Given the description of an element on the screen output the (x, y) to click on. 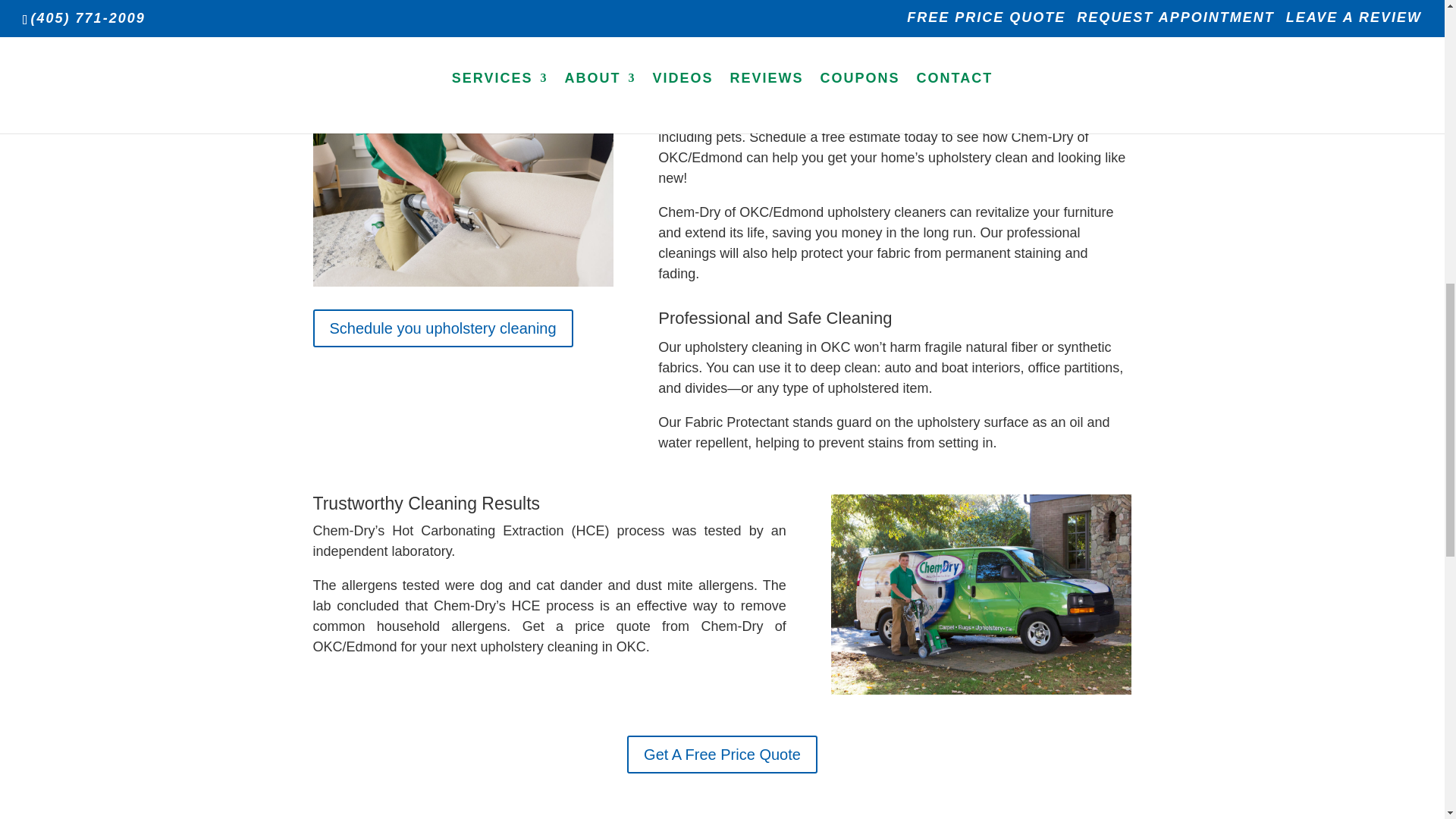
Get A Free Price Quote (721, 754)
chemdry carpet cleaners (981, 594)
Schedule you upholstery cleaning (442, 328)
